Given the description of an element on the screen output the (x, y) to click on. 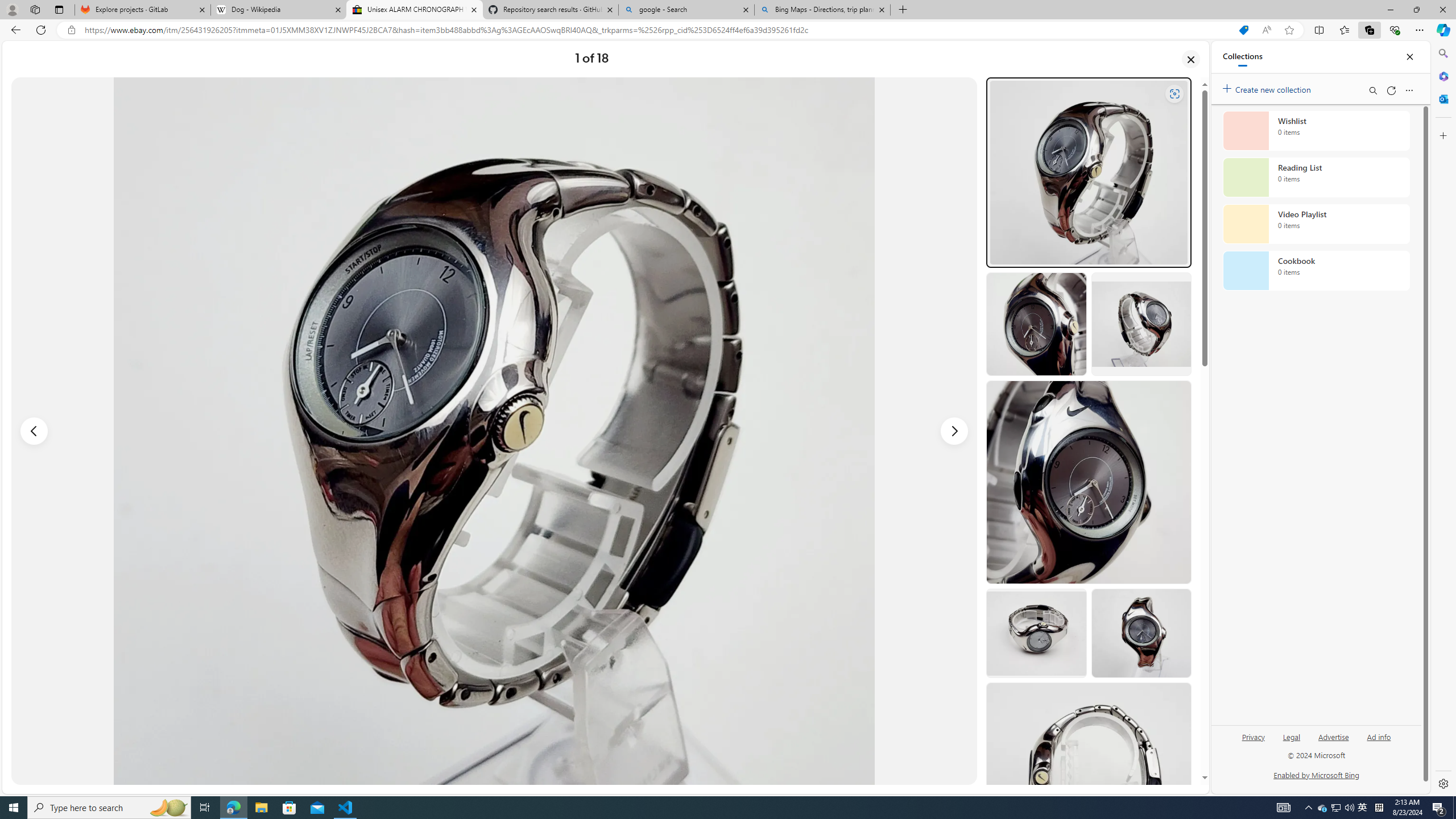
Close image gallery dialog (1190, 58)
Legal (1292, 741)
Reading List collection, 0 items (1316, 177)
Privacy (1253, 736)
Privacy (1252, 741)
Next image - Item images thumbnails (954, 430)
Ad info (1378, 741)
Side bar (1443, 418)
